Given the description of an element on the screen output the (x, y) to click on. 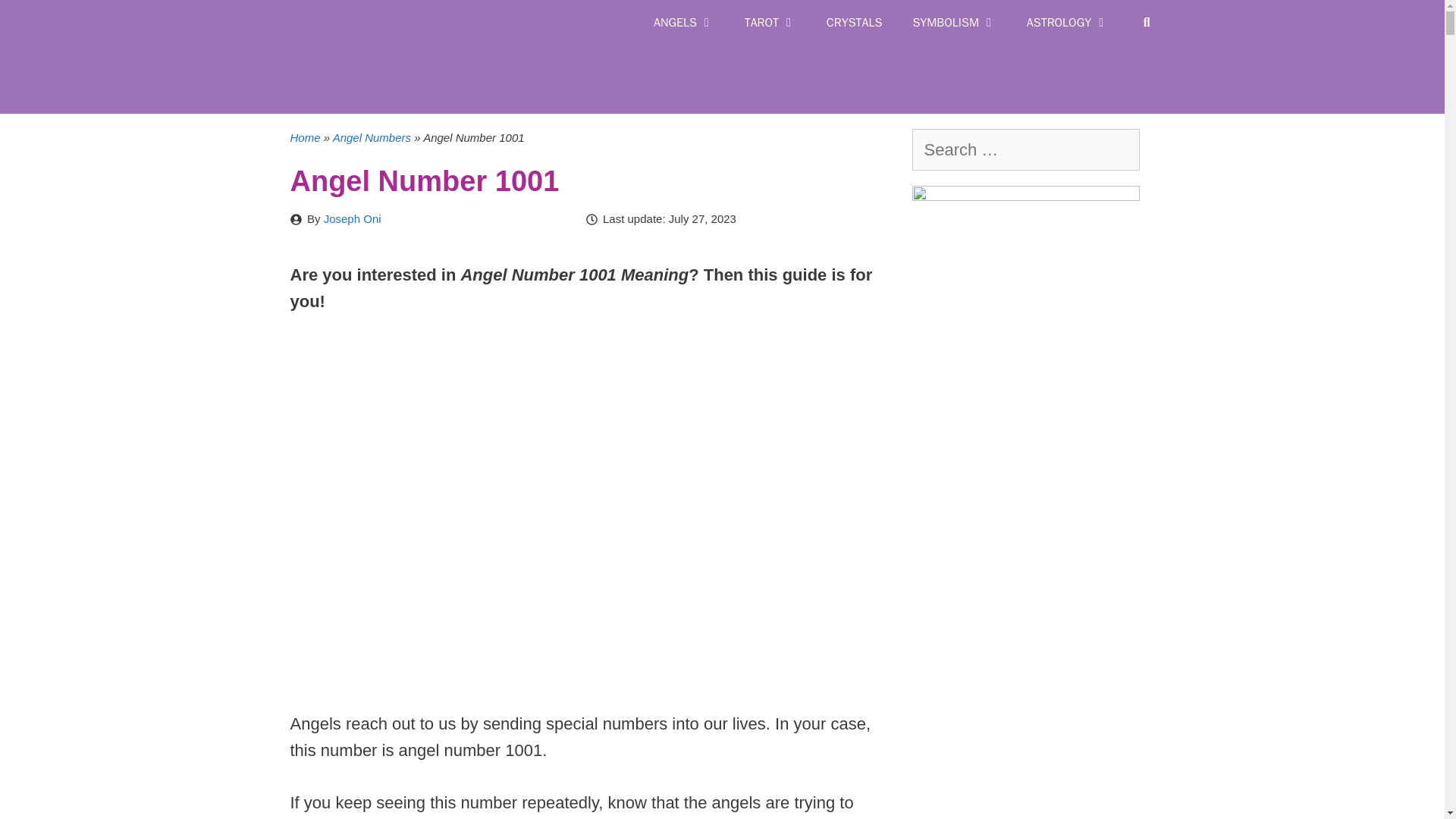
ANGELS (684, 22)
Search for: (1024, 149)
SYMBOLISM (953, 22)
ASTROLOGY (1067, 22)
CRYSTALS (854, 22)
TAROT (769, 22)
